Given the description of an element on the screen output the (x, y) to click on. 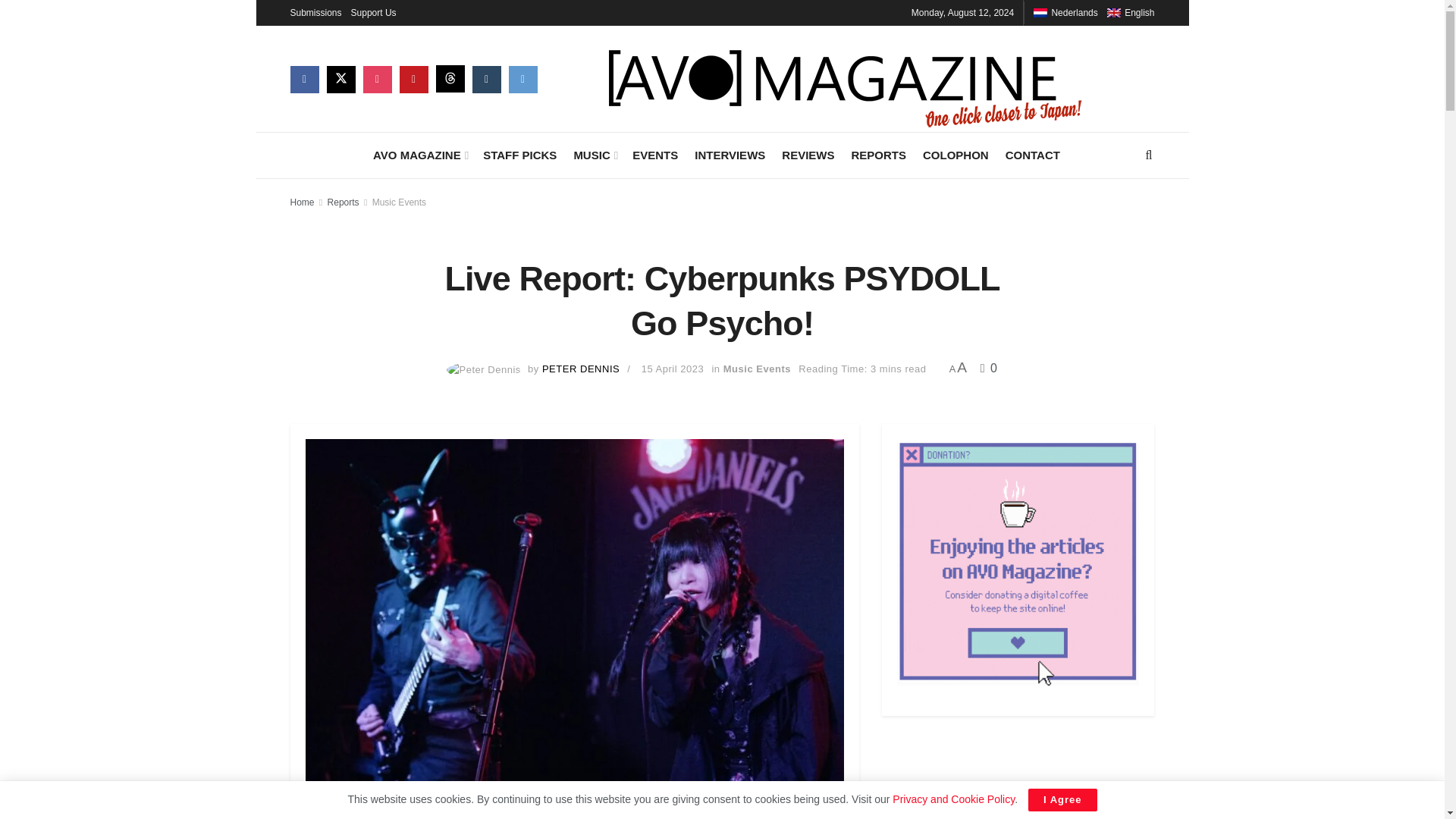
EVENTS (654, 155)
English (1113, 12)
AVO MAGAZINE (418, 155)
INTERVIEWS (729, 155)
COLOPHON (955, 155)
REVIEWS (807, 155)
English (1130, 12)
Nederlands (1065, 12)
MUSIC (594, 155)
Submissions (314, 12)
